Given the description of an element on the screen output the (x, y) to click on. 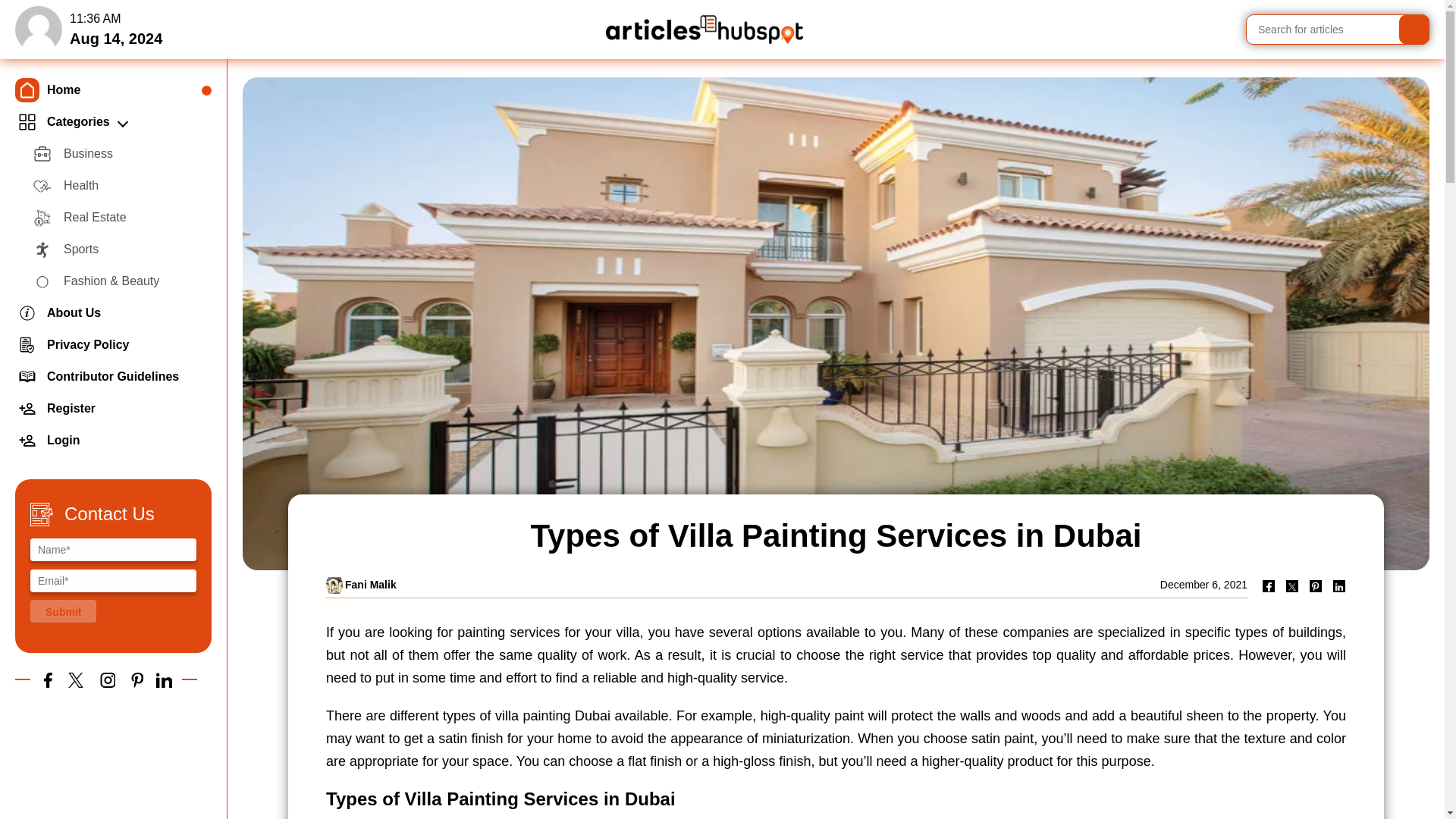
Submit (63, 610)
Categories (112, 122)
Login (112, 440)
Privacy Policy (112, 345)
Sports (120, 249)
Register (112, 409)
Fani Malik (370, 583)
Home (112, 90)
Health (120, 185)
Real Estate (120, 217)
